Given the description of an element on the screen output the (x, y) to click on. 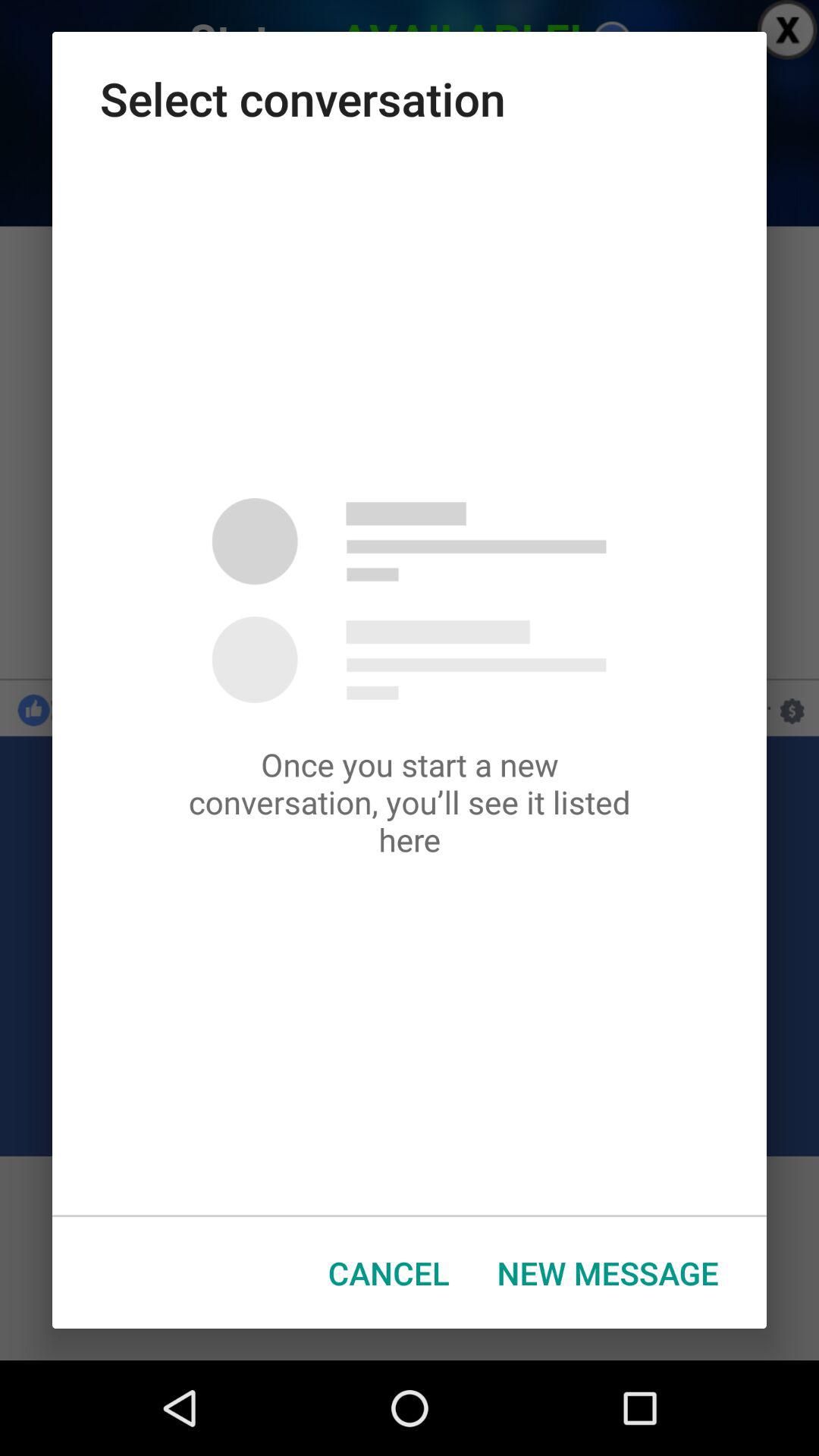
tap item next to new message item (388, 1272)
